Given the description of an element on the screen output the (x, y) to click on. 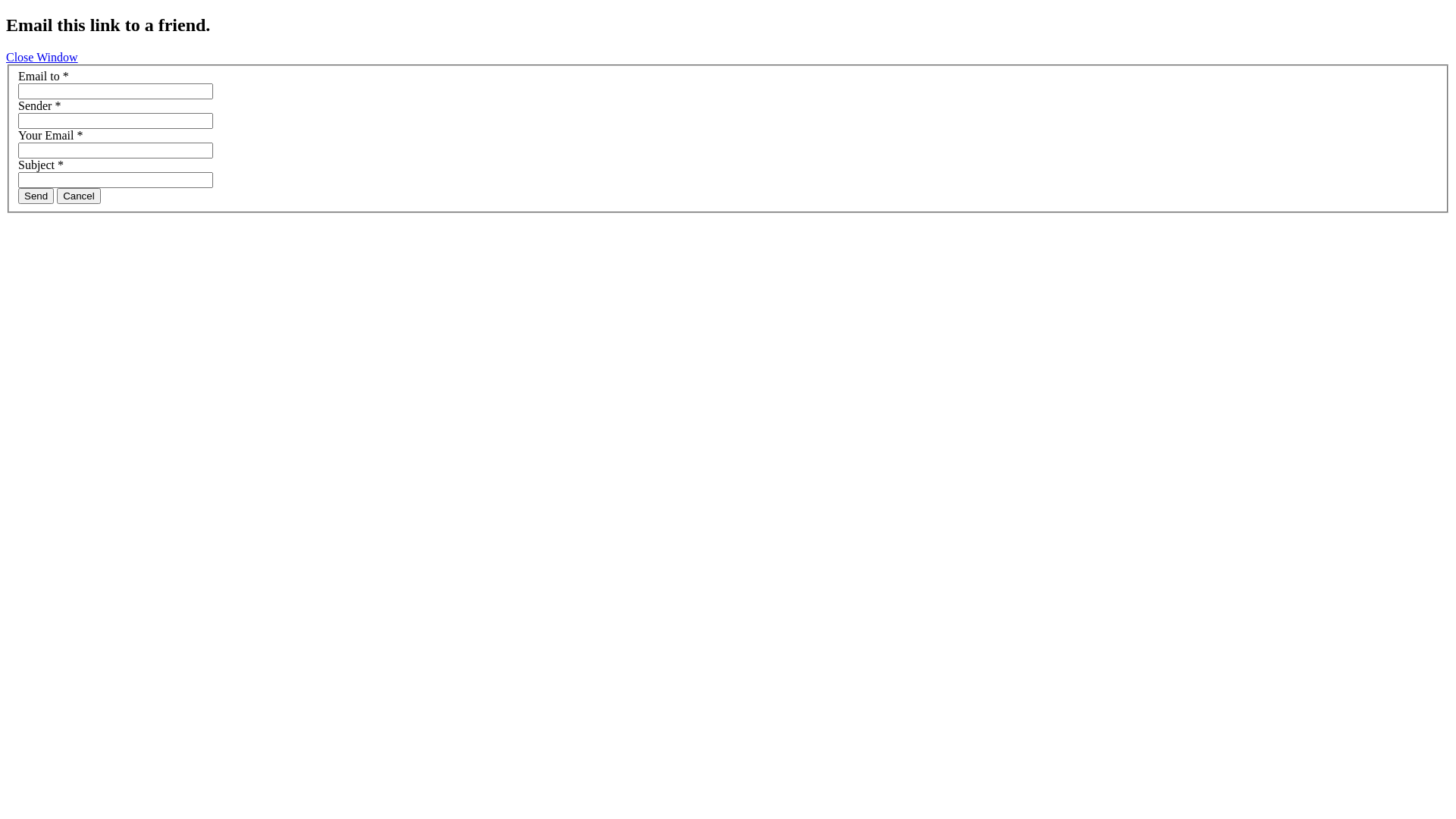
Close Window Element type: text (42, 56)
Cancel Element type: text (78, 195)
Send Element type: text (35, 195)
